Given the description of an element on the screen output the (x, y) to click on. 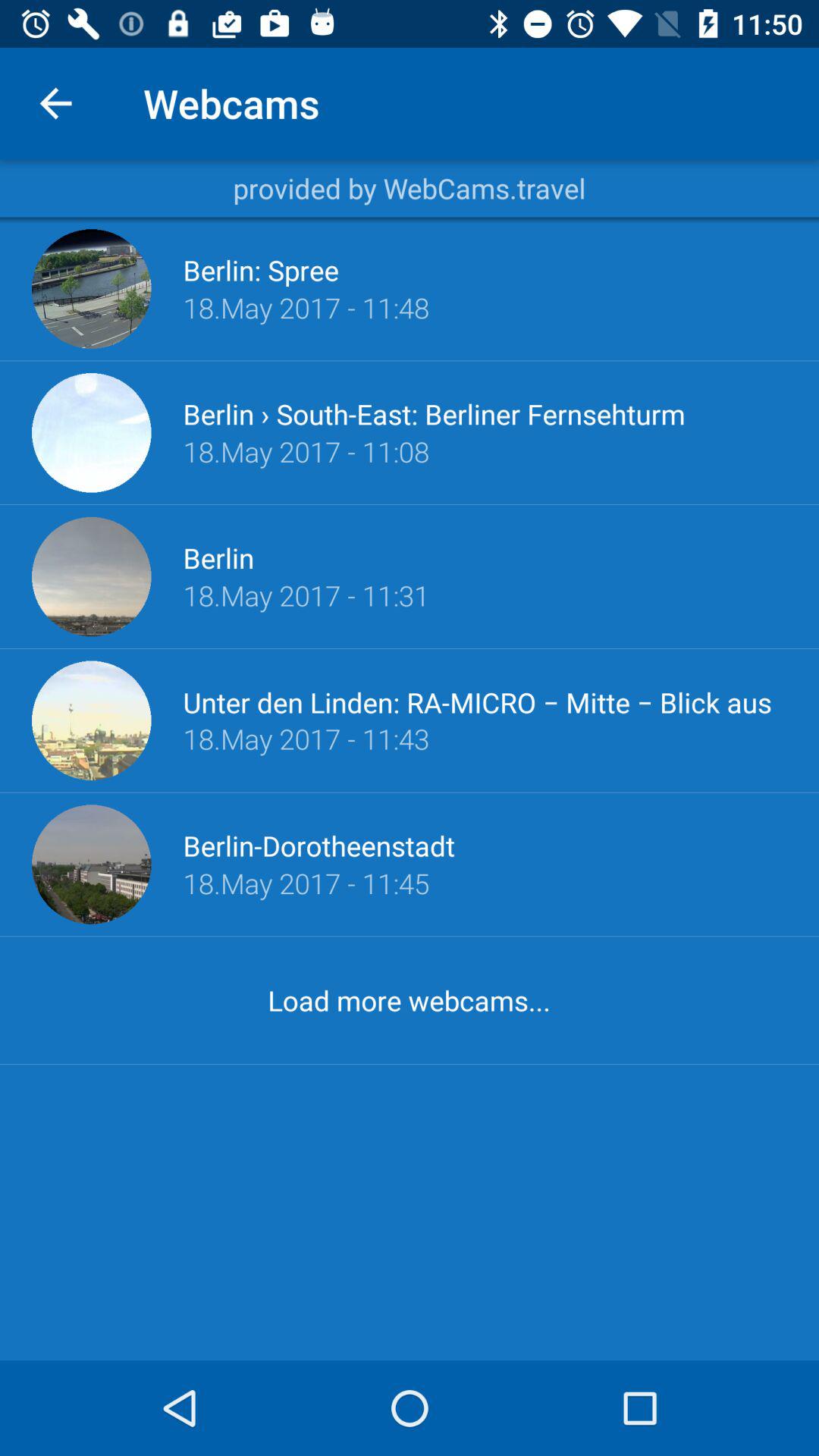
open the item below 18 may 2017 icon (319, 845)
